Given the description of an element on the screen output the (x, y) to click on. 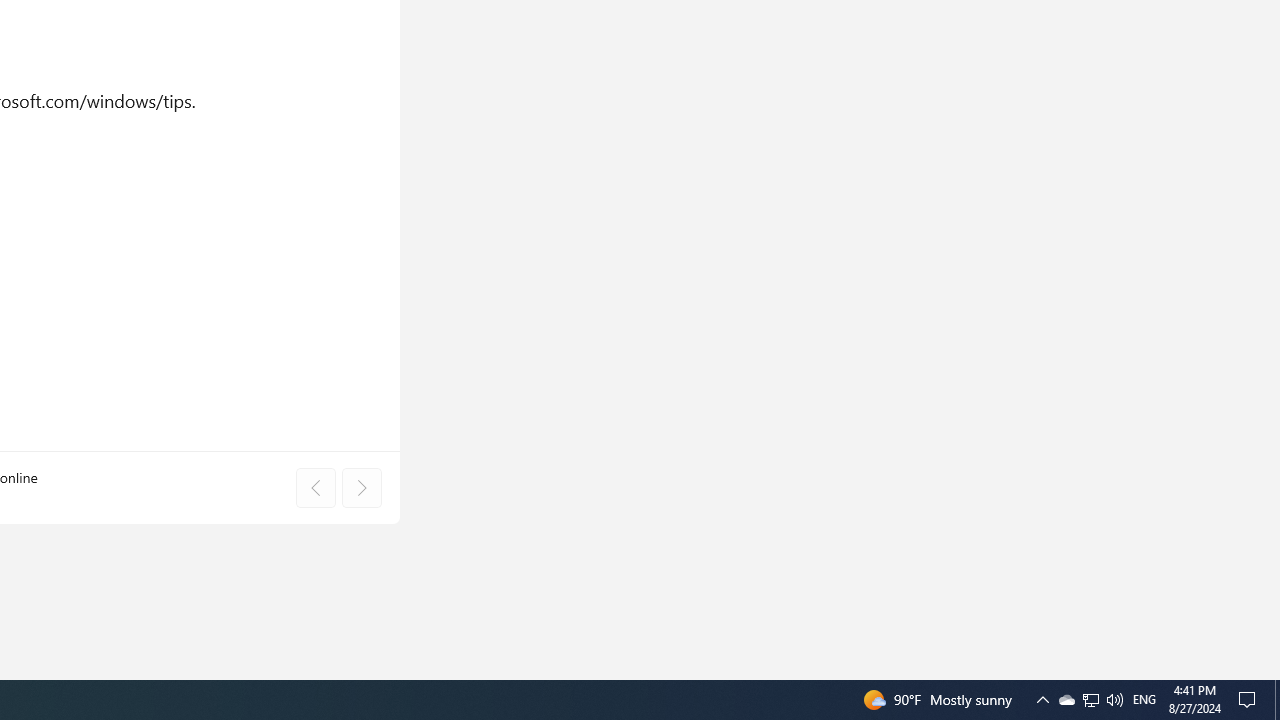
Previous tip (315, 488)
Next tip (361, 488)
